Given the description of an element on the screen output the (x, y) to click on. 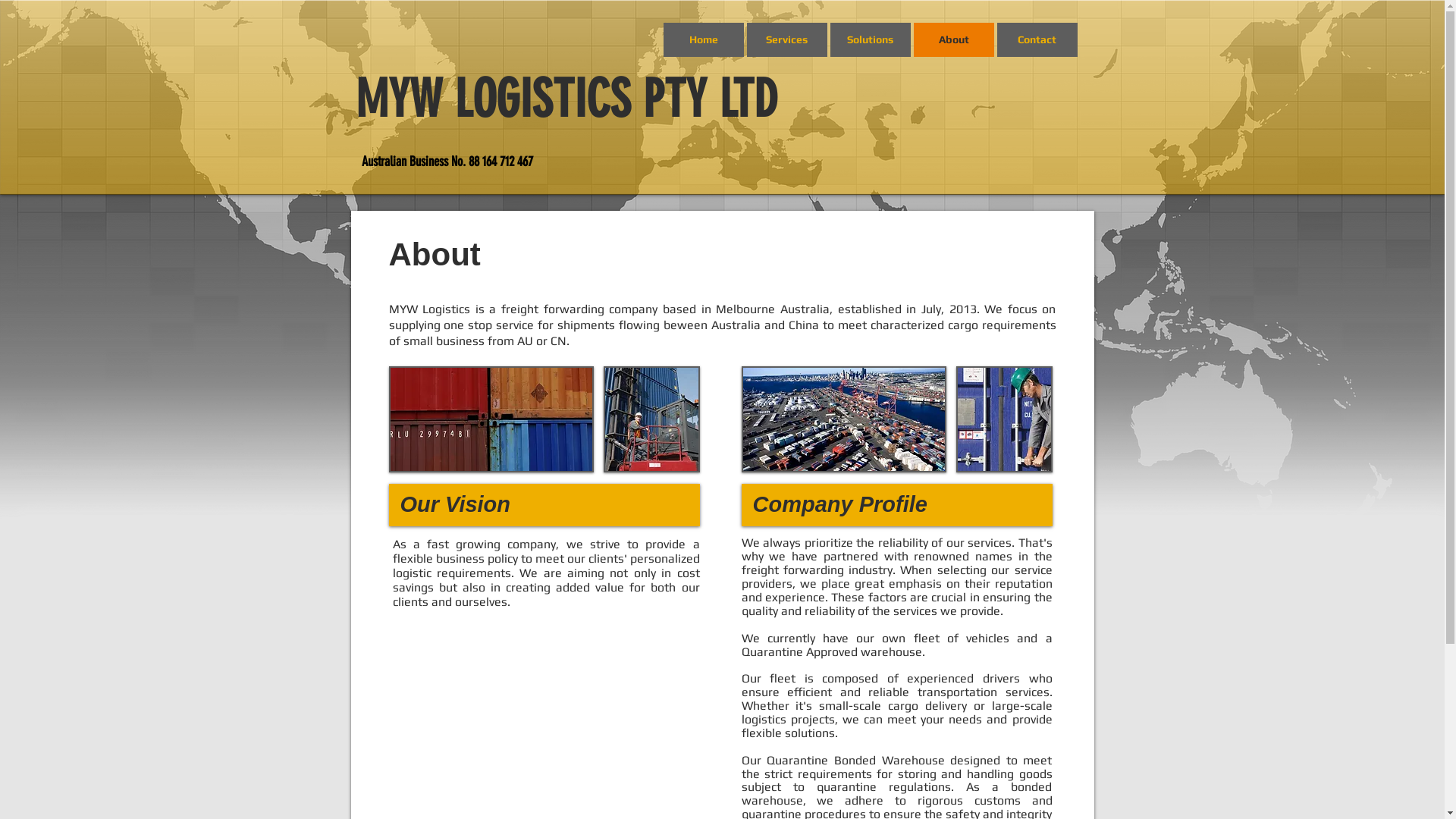
Services Element type: text (786, 39)
Solutions Element type: text (869, 39)
About Element type: text (953, 39)
Home Element type: text (702, 39)
Contact Element type: text (1036, 39)
